Given the description of an element on the screen output the (x, y) to click on. 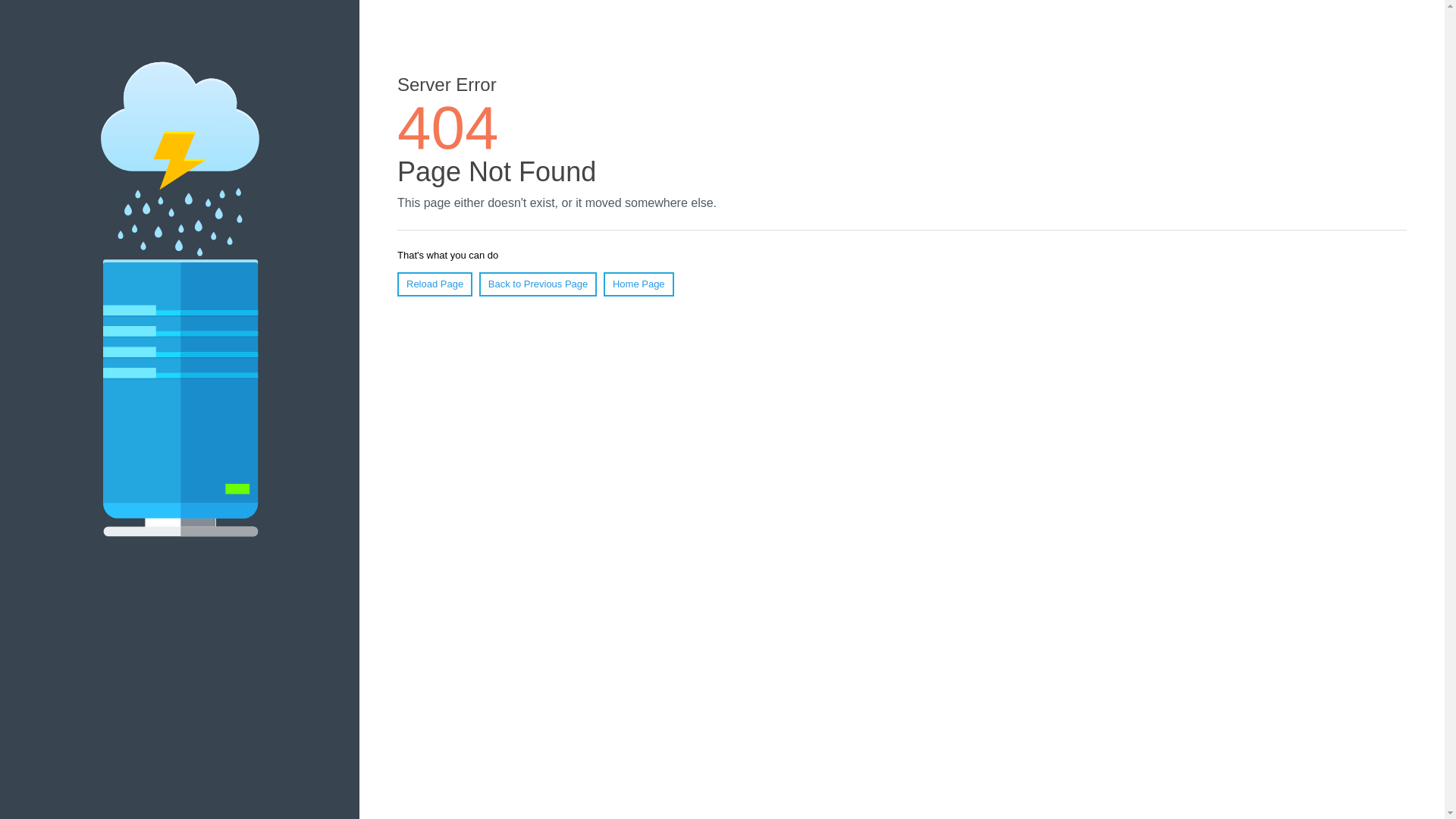
Back to Previous Page Element type: text (538, 284)
Reload Page Element type: text (434, 284)
Home Page Element type: text (638, 284)
